Given the description of an element on the screen output the (x, y) to click on. 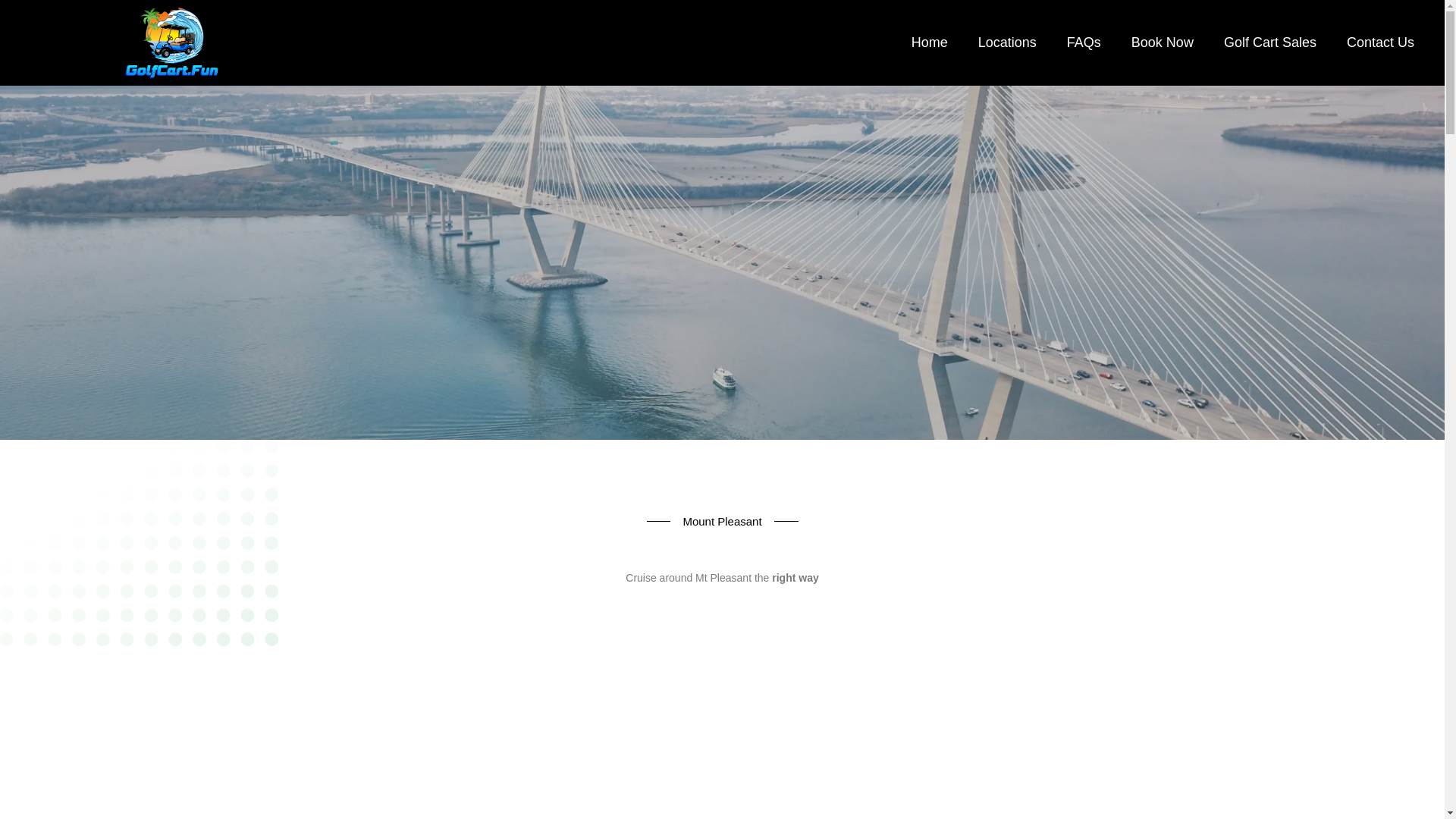
Home (929, 42)
FAQs (1083, 42)
Golf Cart Sales (1270, 42)
Locations (1006, 42)
Book Now (1162, 42)
Contact Us (1380, 42)
